Given the description of an element on the screen output the (x, y) to click on. 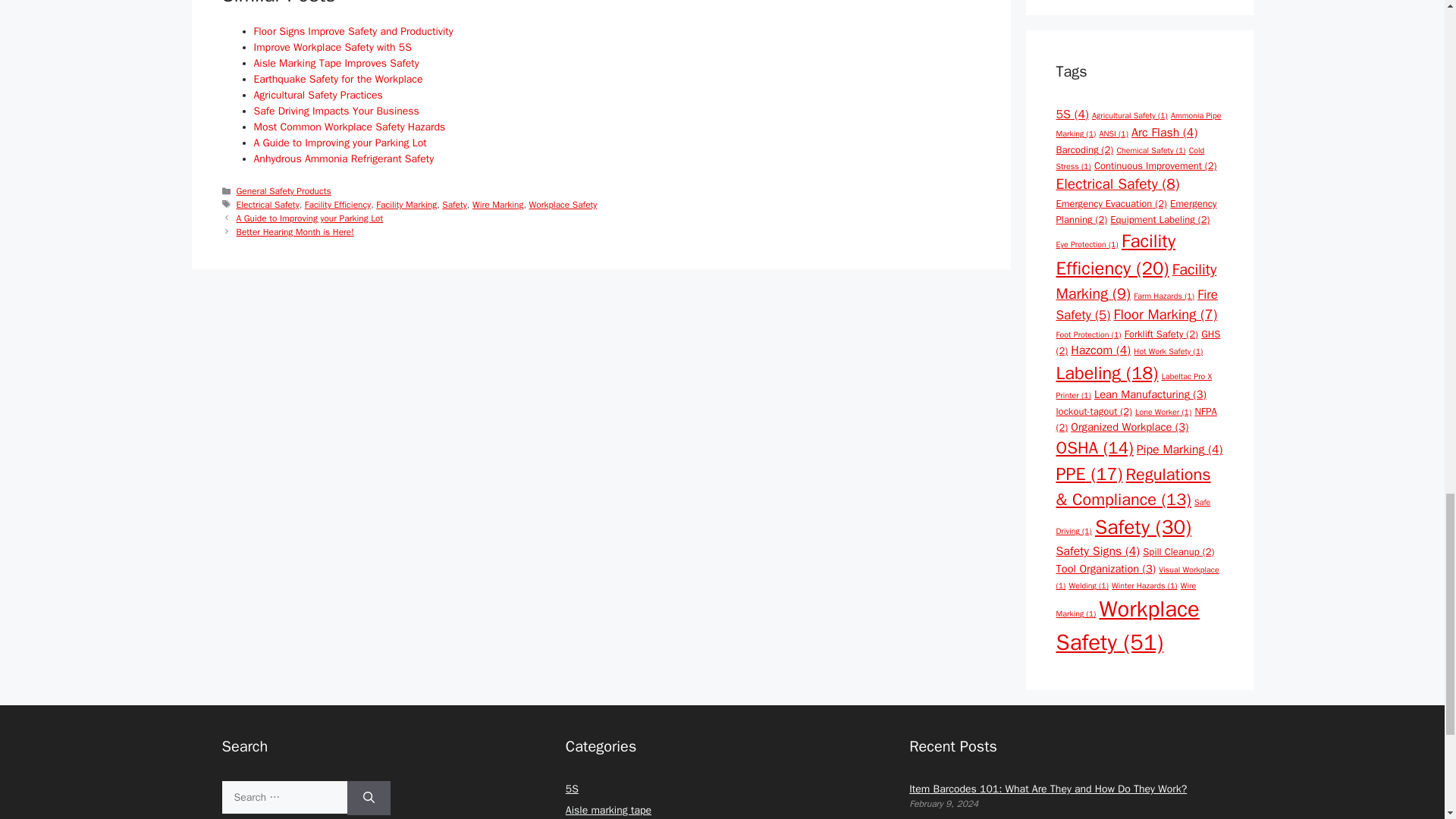
Facility Efficiency (337, 204)
Earthquake Safety for the Workplace (337, 78)
Aisle Marking Tape Improves Safety (336, 62)
Floor Signs Improve Safety and Productivity (352, 31)
General Safety Products (283, 191)
Improve Workplace Safety with 5S (331, 47)
Anhydrous Ammonia Refrigerant Safety (343, 158)
Improve Workplace Safety with 5S (331, 47)
Aisle Marking Tape Improves Safety (336, 62)
Facility Marking (405, 204)
